Given the description of an element on the screen output the (x, y) to click on. 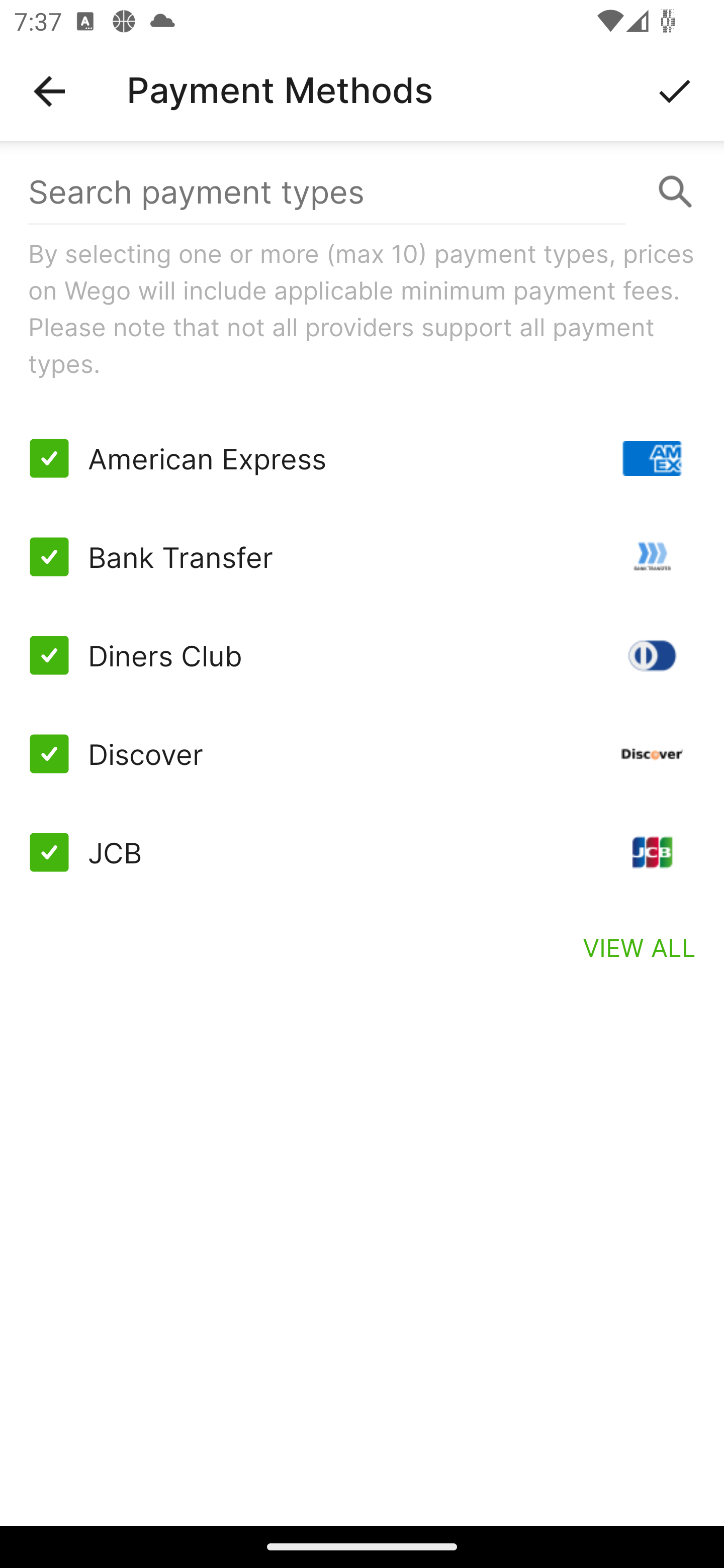
Search payment types  (361, 191)
American Express (362, 458)
Bank Transfer (362, 557)
Diners Club (362, 655)
Discover (362, 753)
JCB (362, 851)
VIEW ALL (639, 946)
